Given the description of an element on the screen output the (x, y) to click on. 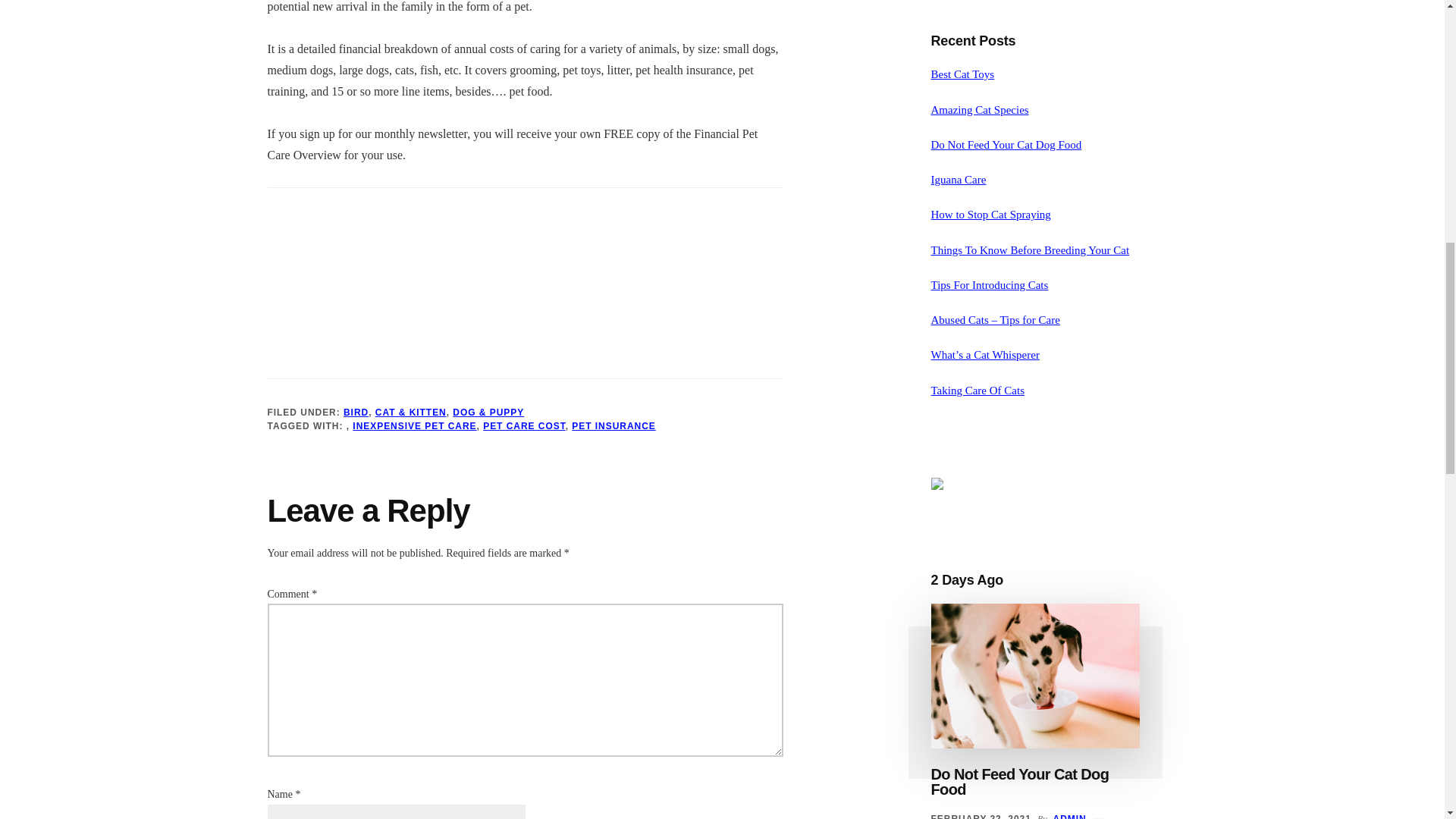
ADMIN (1069, 816)
Do Not Feed Your Cat Dog Food (1006, 144)
Do Not Feed Your Cat Dog Food (1020, 781)
Taking Care Of Cats (978, 390)
Things To Know Before Breeding Your Cat (1030, 250)
Iguana Care (959, 179)
Amazing Cat Species (980, 110)
PET CARE COST (524, 425)
PET INSURANCE (614, 425)
BIRD (355, 411)
Tips For Introducing Cats (989, 285)
How to Stop Cat Spraying (991, 214)
Best Cat Toys (962, 73)
INEXPENSIVE PET CARE (414, 425)
Pet Photo by Kay Cee (362, 278)
